Given the description of an element on the screen output the (x, y) to click on. 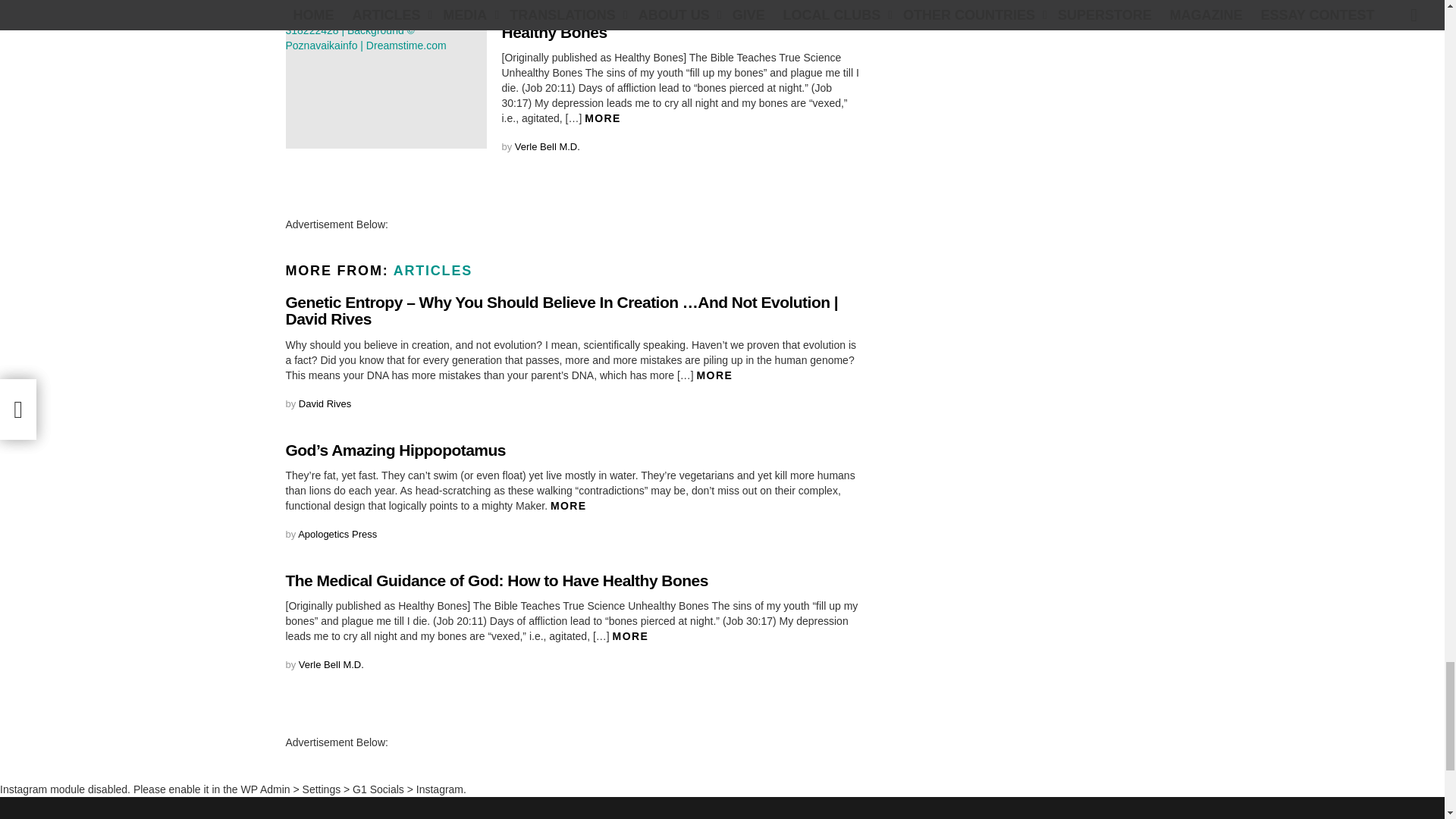
Posts by David Rives (324, 402)
Posts by Verle Bell M.D. (331, 664)
Posts by Apologetics Press (337, 533)
Posts by Verle Bell M.D. (547, 146)
The Medical Guidance of God: How to Have Healthy Bones (385, 77)
